Given the description of an element on the screen output the (x, y) to click on. 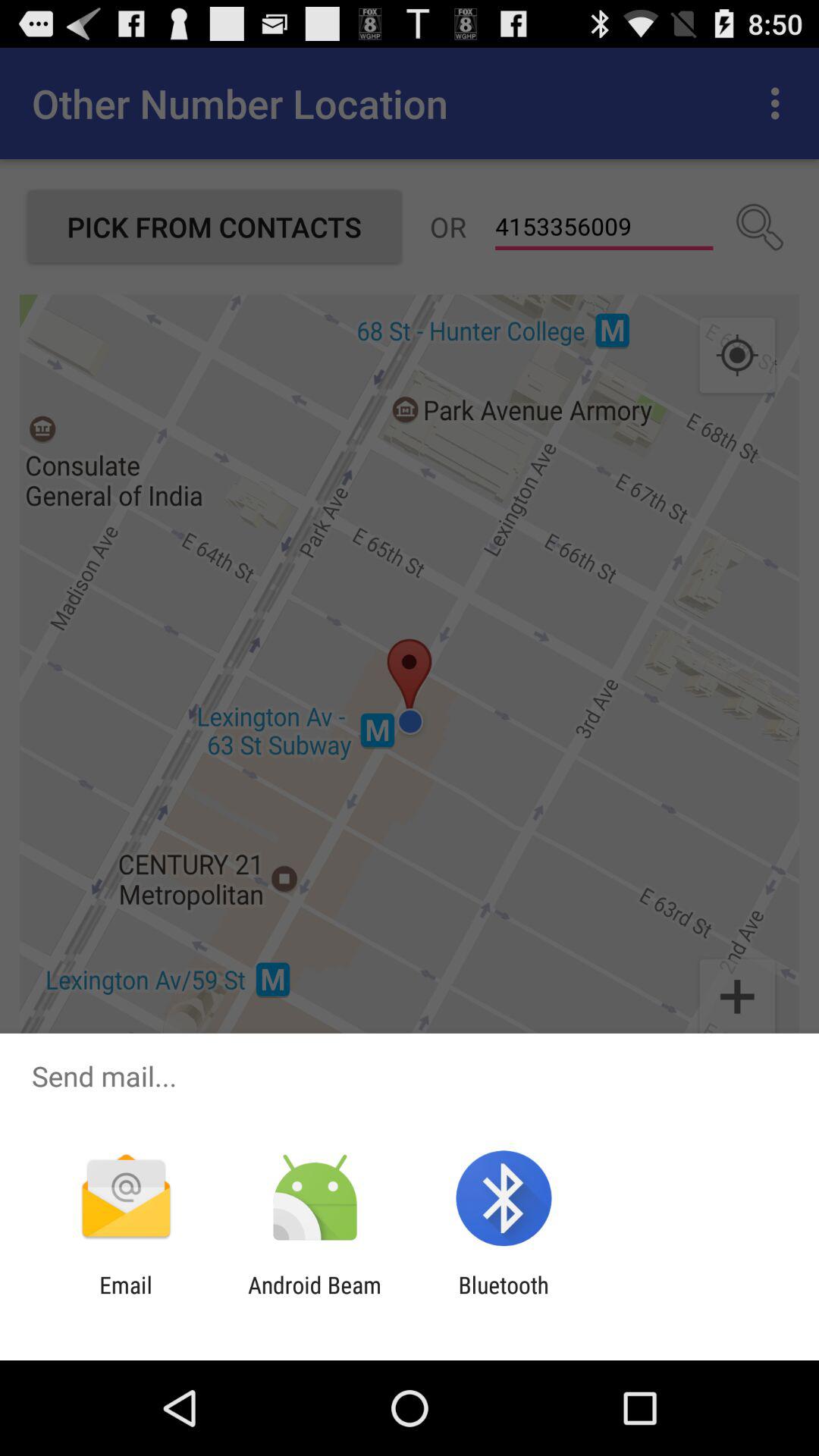
click the icon to the left of android beam app (125, 1298)
